Given the description of an element on the screen output the (x, y) to click on. 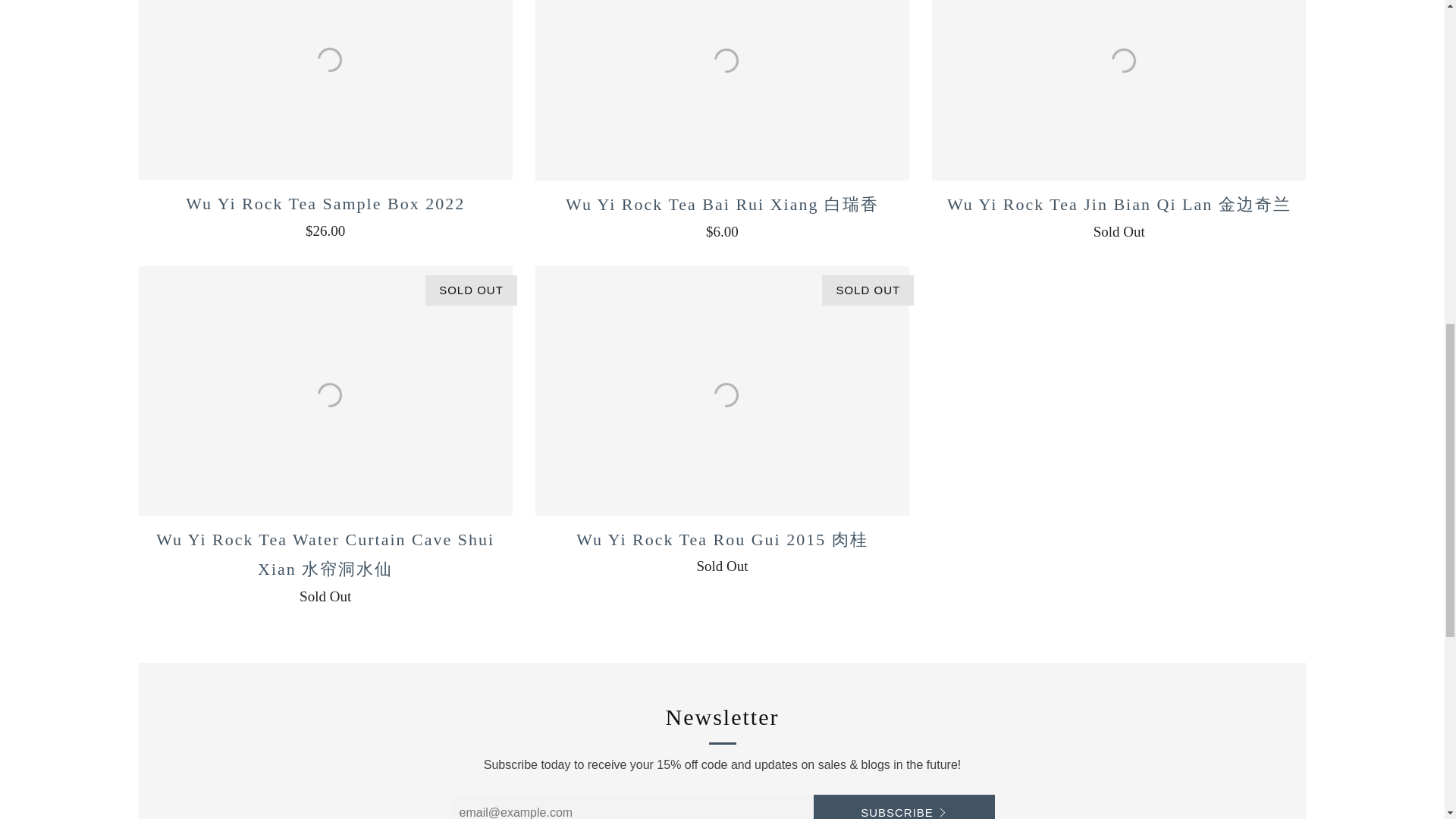
Wu Yi Rock Tea Sample Box 2022 (325, 213)
Wu Yi Rock Tea Sample Box 2022 (325, 89)
